Given the description of an element on the screen output the (x, y) to click on. 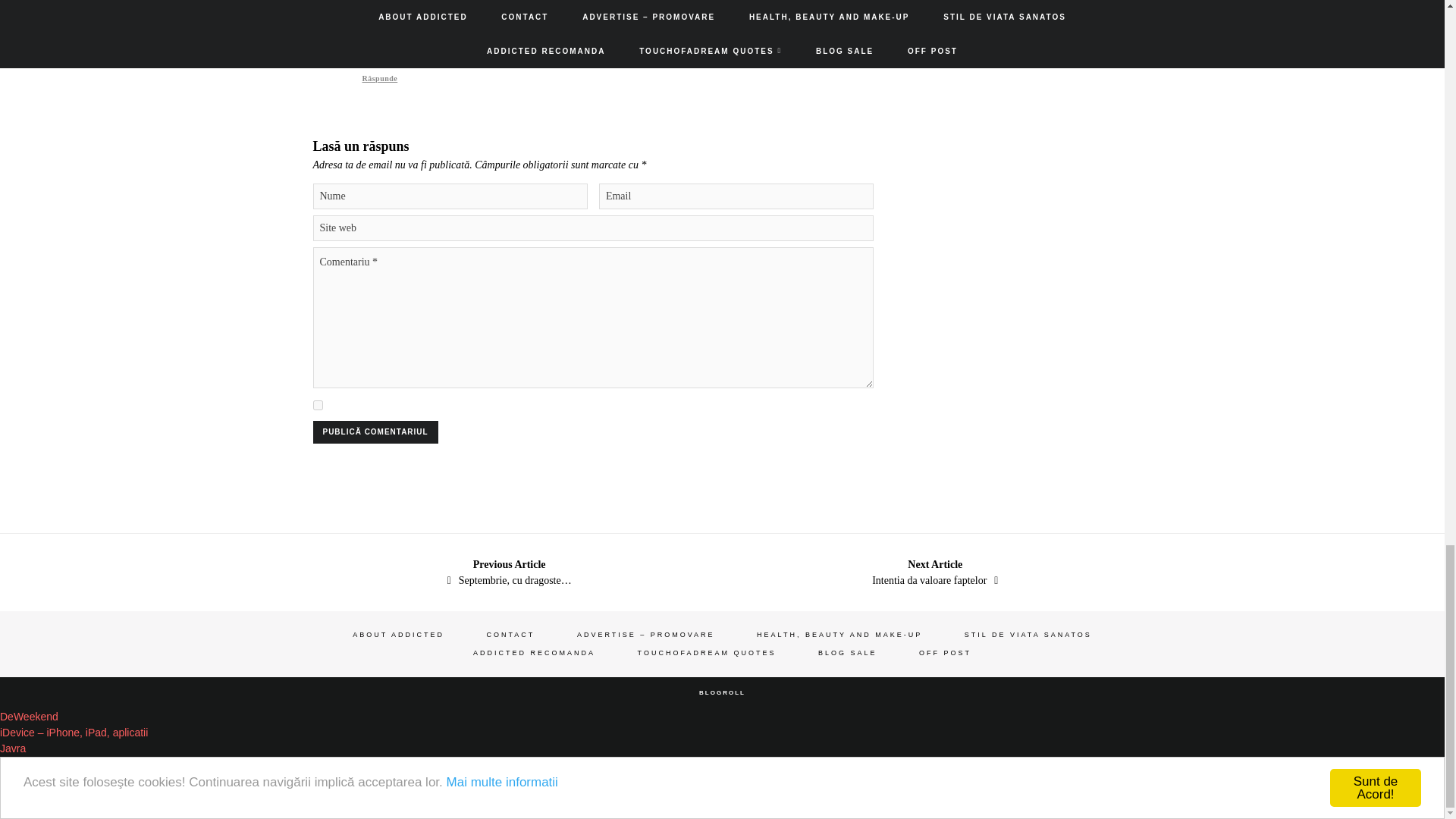
subscribe (317, 405)
